Given the description of an element on the screen output the (x, y) to click on. 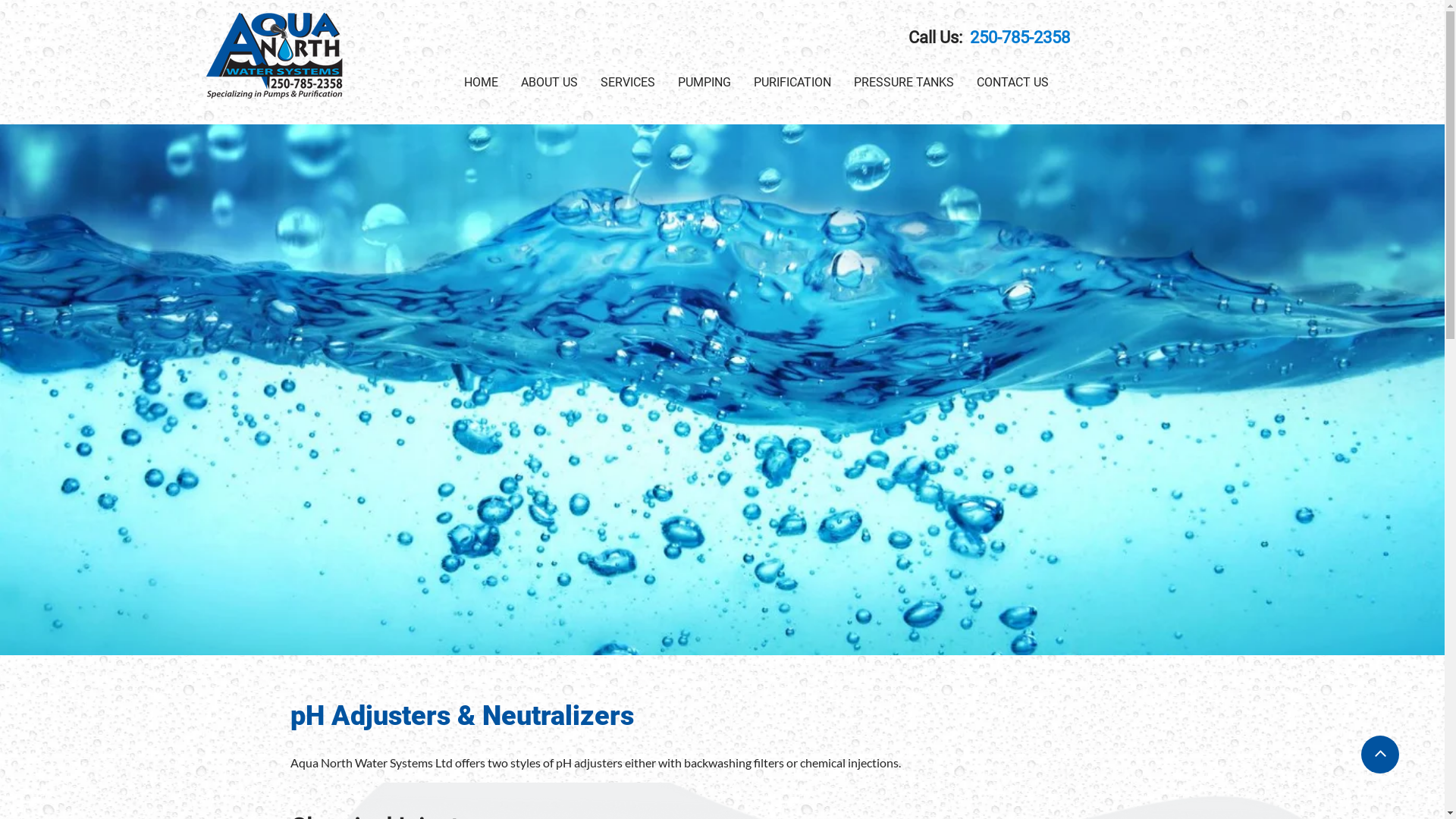
PRESSURE TANKS Element type: text (903, 76)
CONTACT US Element type: text (1012, 76)
PURIFICATION Element type: text (792, 76)
HOME Element type: text (480, 76)
250-785-2358 Element type: text (1018, 37)
PUMPING Element type: text (704, 76)
ABOUT US Element type: text (549, 76)
